Given the description of an element on the screen output the (x, y) to click on. 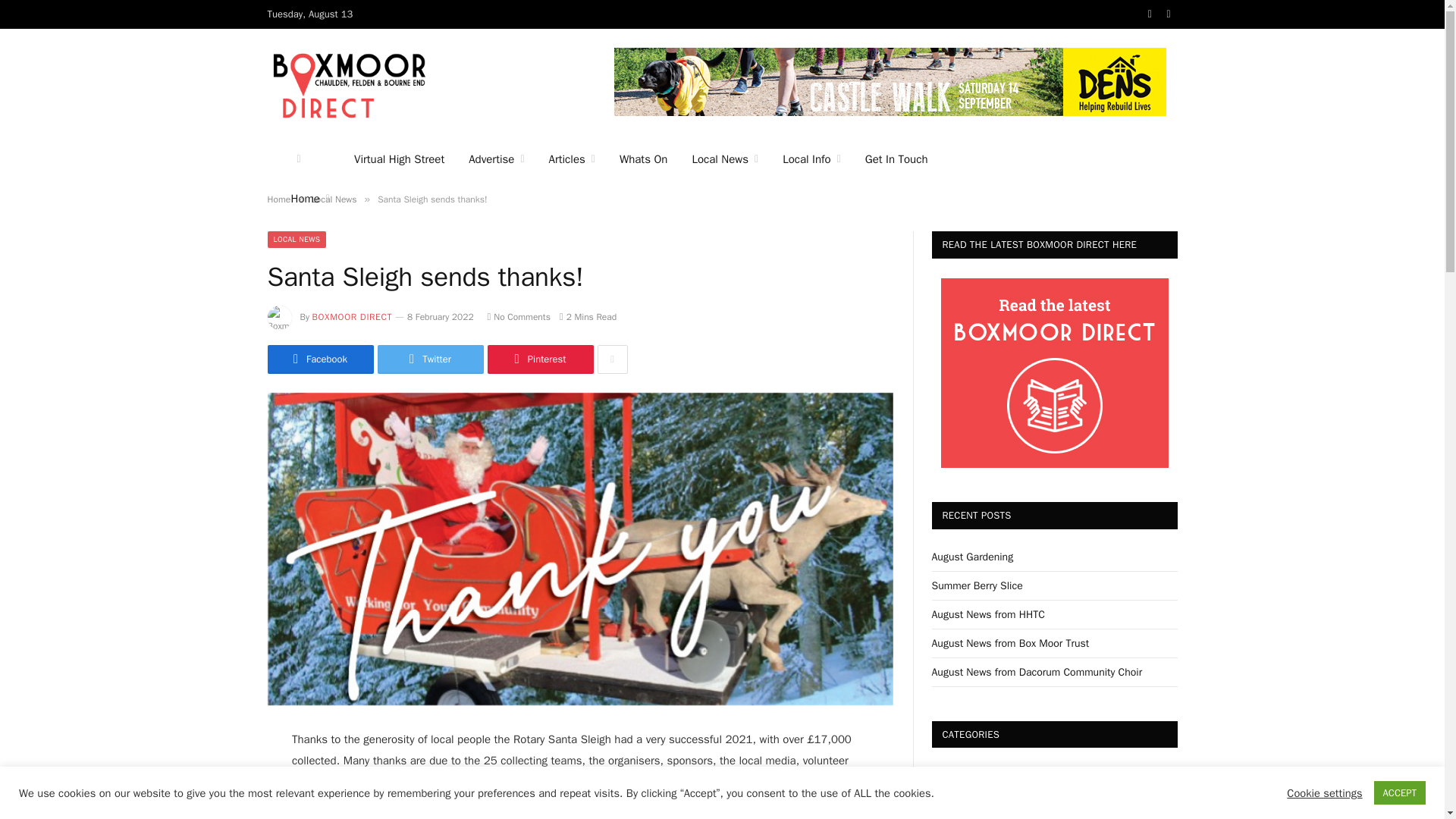
Articles (572, 159)
Advertise (496, 159)
Virtual High Street (399, 159)
Share on Pinterest (539, 358)
Home (310, 198)
Posts by Boxmoor Direct (353, 316)
Show More Social Sharing (611, 358)
Local News (724, 159)
Whats On (643, 159)
